Given the description of an element on the screen output the (x, y) to click on. 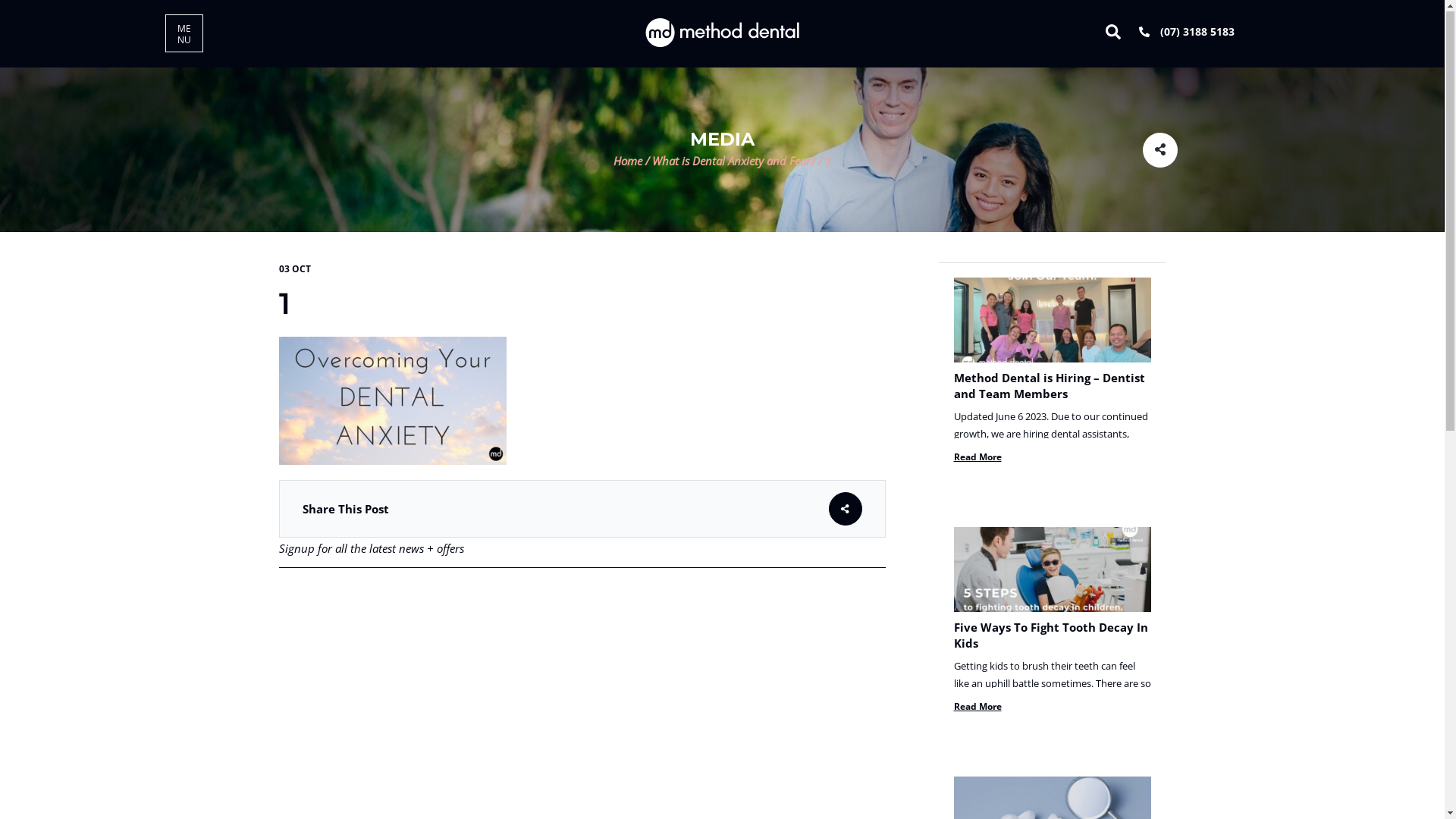
Method Dental Element type: hover (722, 32)
What is Dental Anxiety and Fear? Element type: text (733, 161)
(07) 3188 5183 Element type: text (1186, 31)
Read More Element type: text (977, 706)
Five Ways To Fight Tooth Decay In Kids Element type: text (1050, 635)
Home Element type: text (627, 161)
ME
NU Element type: text (184, 34)
Read More Element type: text (977, 457)
